Given the description of an element on the screen output the (x, y) to click on. 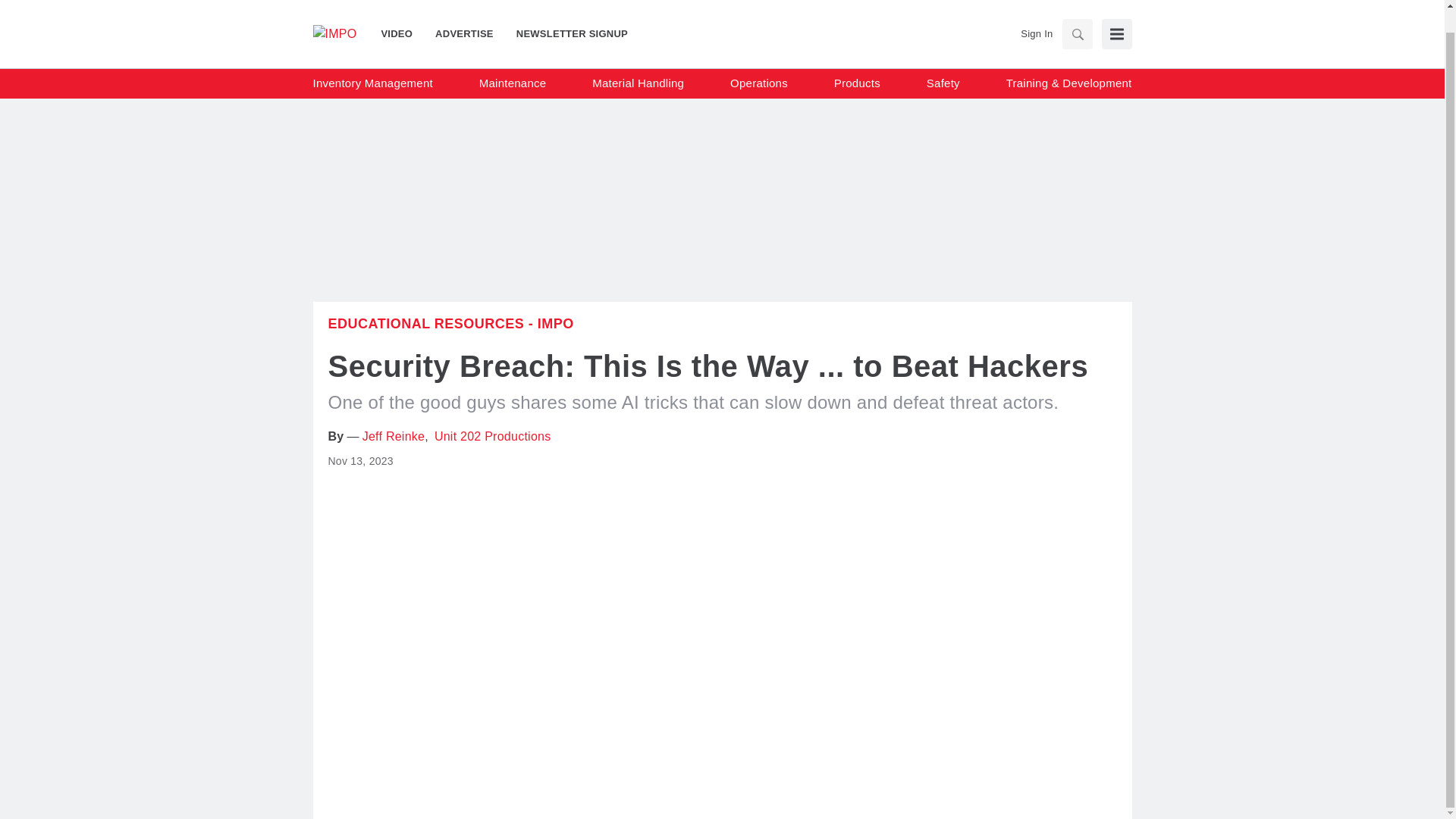
VIDEO (401, 10)
Operations (758, 60)
Maintenance (513, 60)
NEWSLETTER SIGNUP (566, 10)
Safety (942, 60)
Educational Resources - IMPO (450, 323)
Inventory Management (372, 60)
ADVERTISE (464, 10)
Material Handling (638, 60)
Products (857, 60)
